Given the description of an element on the screen output the (x, y) to click on. 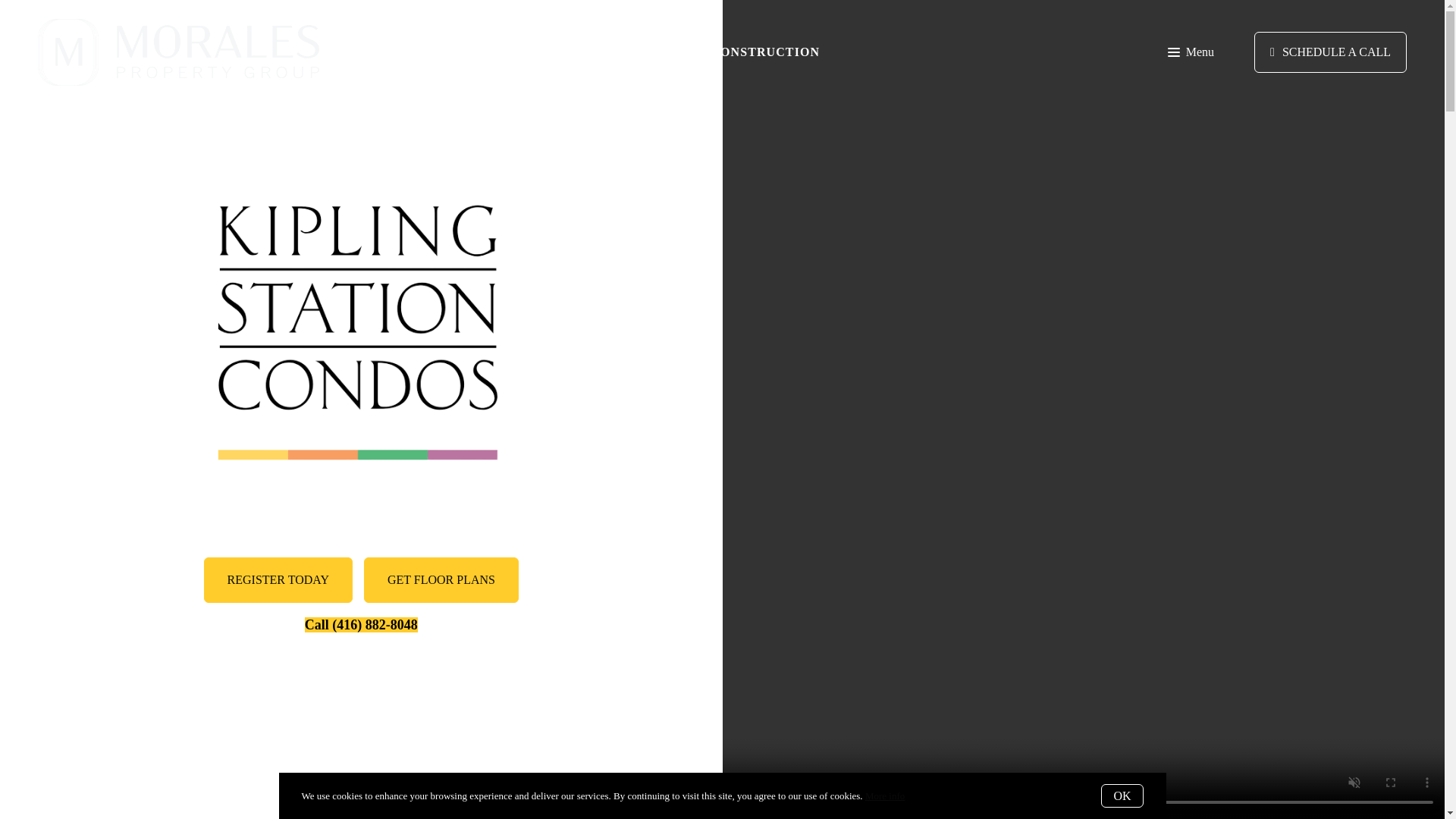
Menu (1190, 52)
SELLING? (424, 52)
Kipling Station Condos Registration  (277, 579)
SCHEDULE A CALL (1329, 51)
REGISTER TODAY (277, 579)
GET FLOOR PLANS (441, 579)
PRE-CONSTRUCTION (750, 52)
Kipling Station Condos Registration  (441, 579)
